Given the description of an element on the screen output the (x, y) to click on. 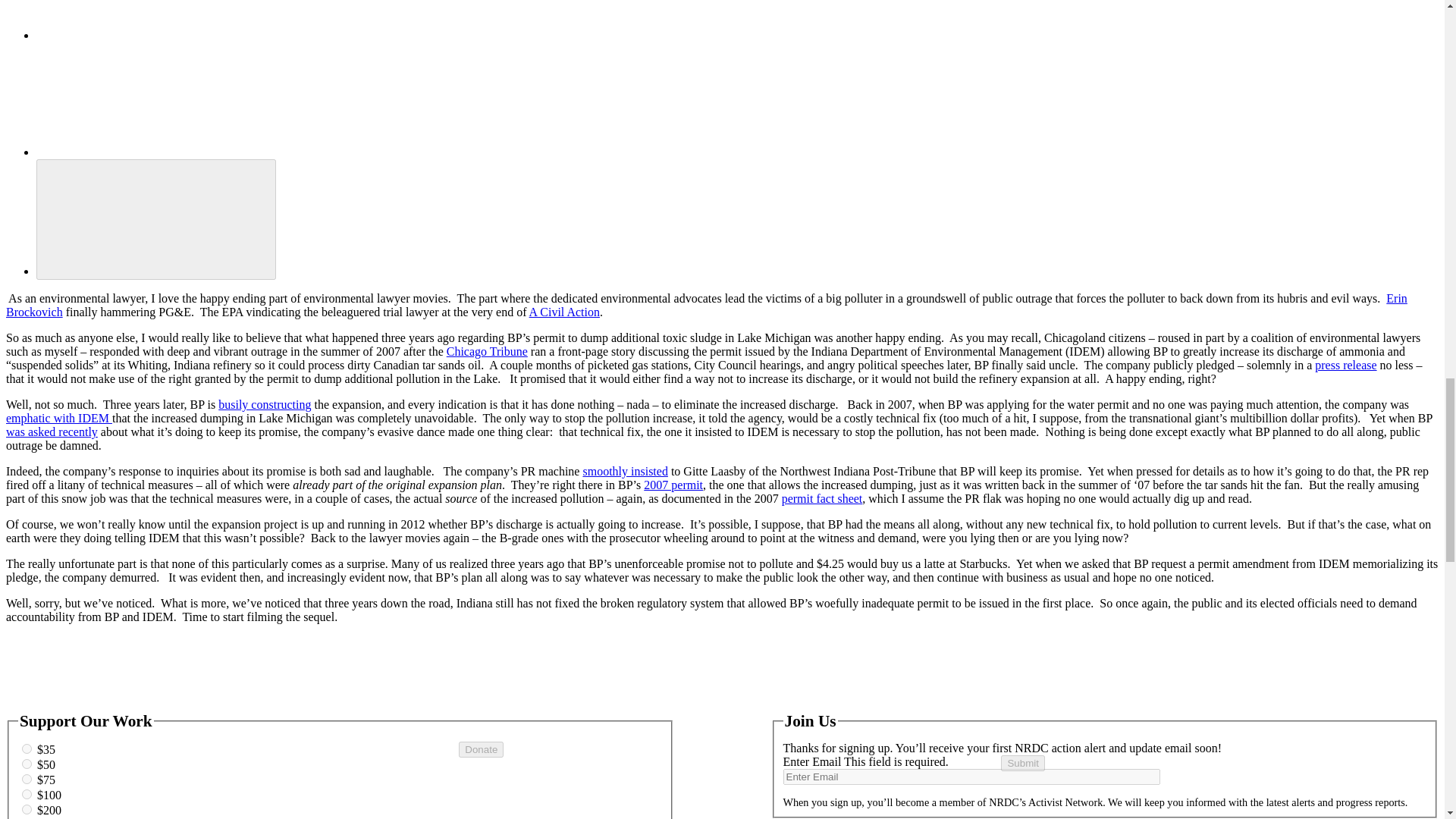
75 (26, 778)
200 (26, 809)
100 (26, 794)
Share this page block (149, 19)
35 (26, 748)
Share this page block (149, 99)
50 (26, 764)
Share this page block (155, 218)
